Given the description of an element on the screen output the (x, y) to click on. 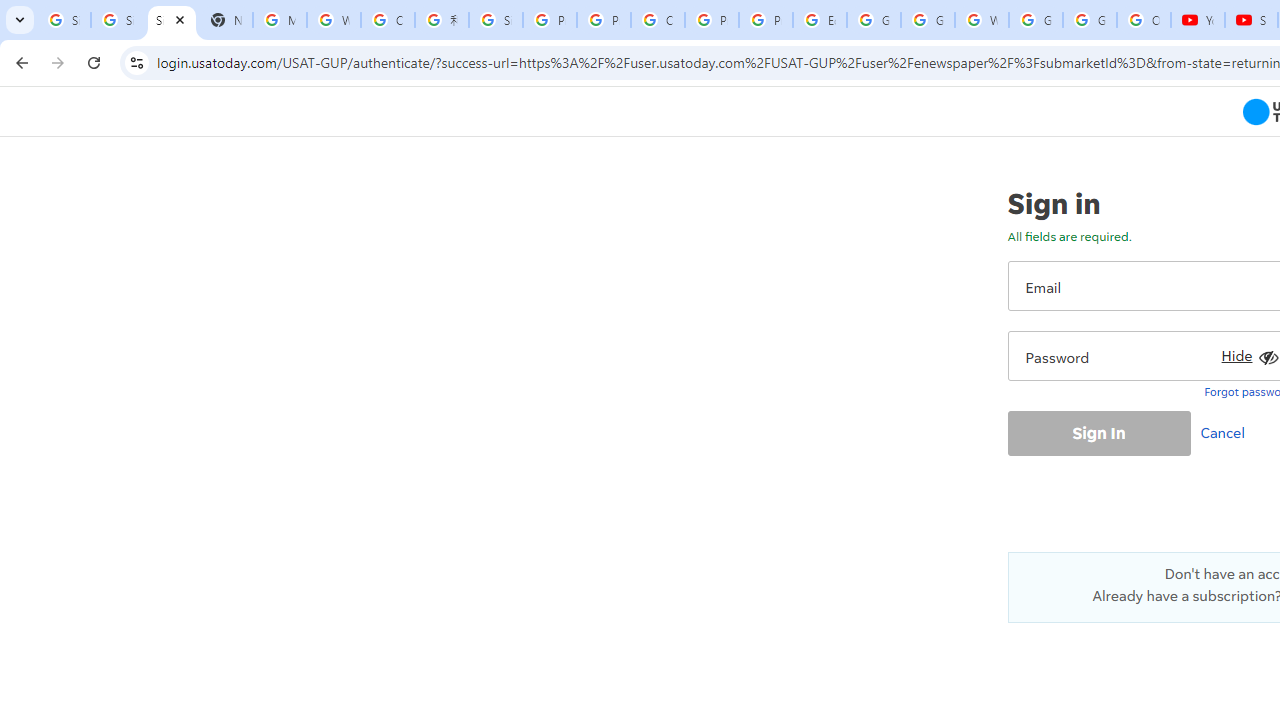
Sign in - Google Accounts (495, 20)
